Given the description of an element on the screen output the (x, y) to click on. 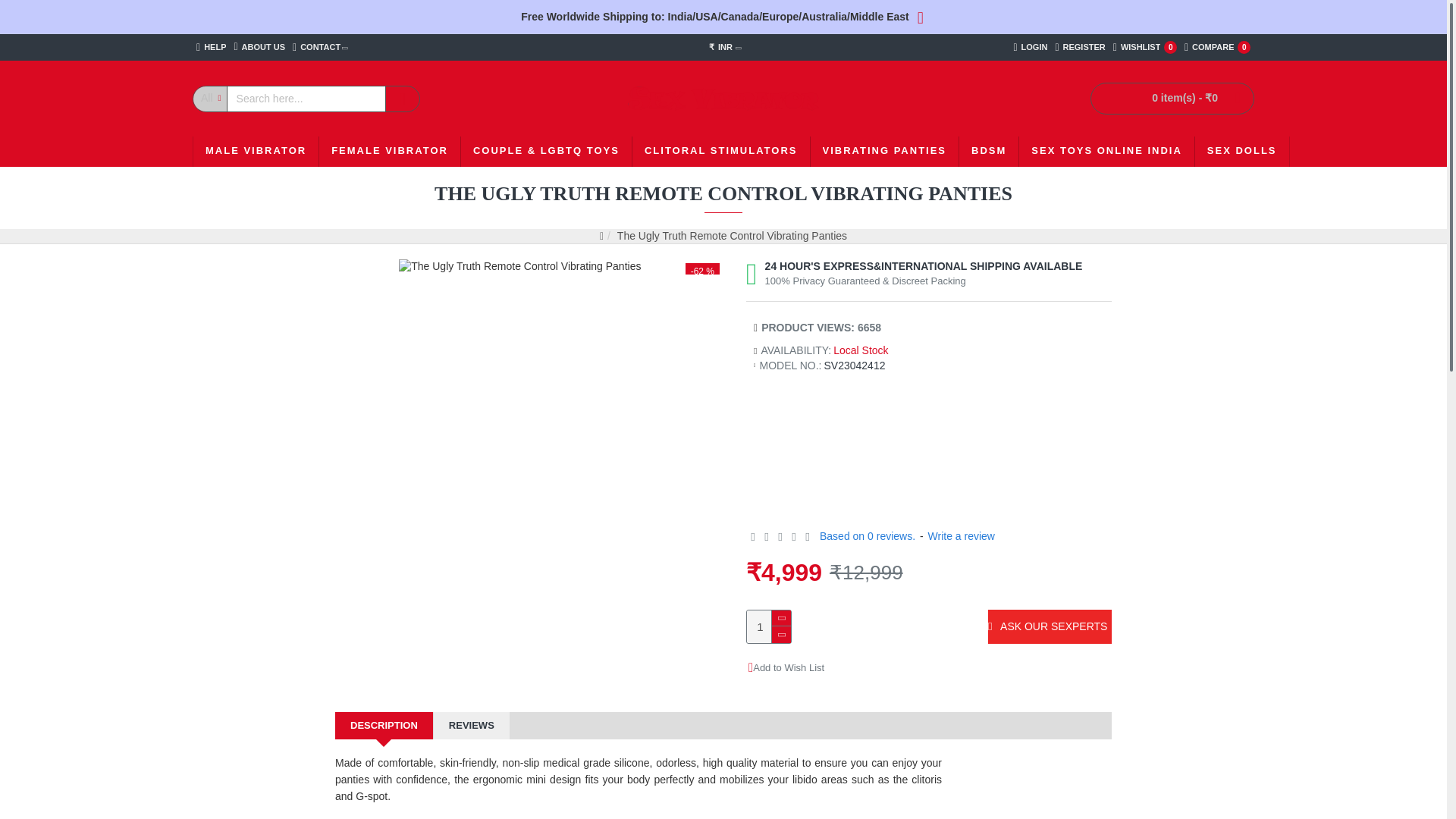
ABOUT US (1144, 47)
MALE VIBRATOR (259, 47)
CONTACT (255, 151)
REGISTER (1216, 47)
The Ugly Truth Remote Control Vibrating Panties (320, 47)
LOGIN (1079, 47)
HELP (519, 266)
1 (1030, 47)
